Given the description of an element on the screen output the (x, y) to click on. 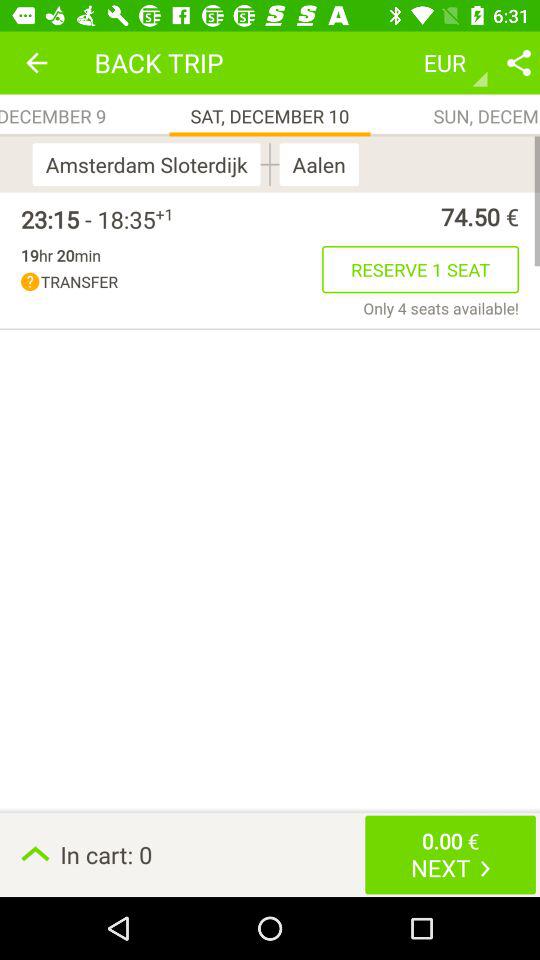
open the item above the in cart: 0 (441, 308)
